Given the description of an element on the screen output the (x, y) to click on. 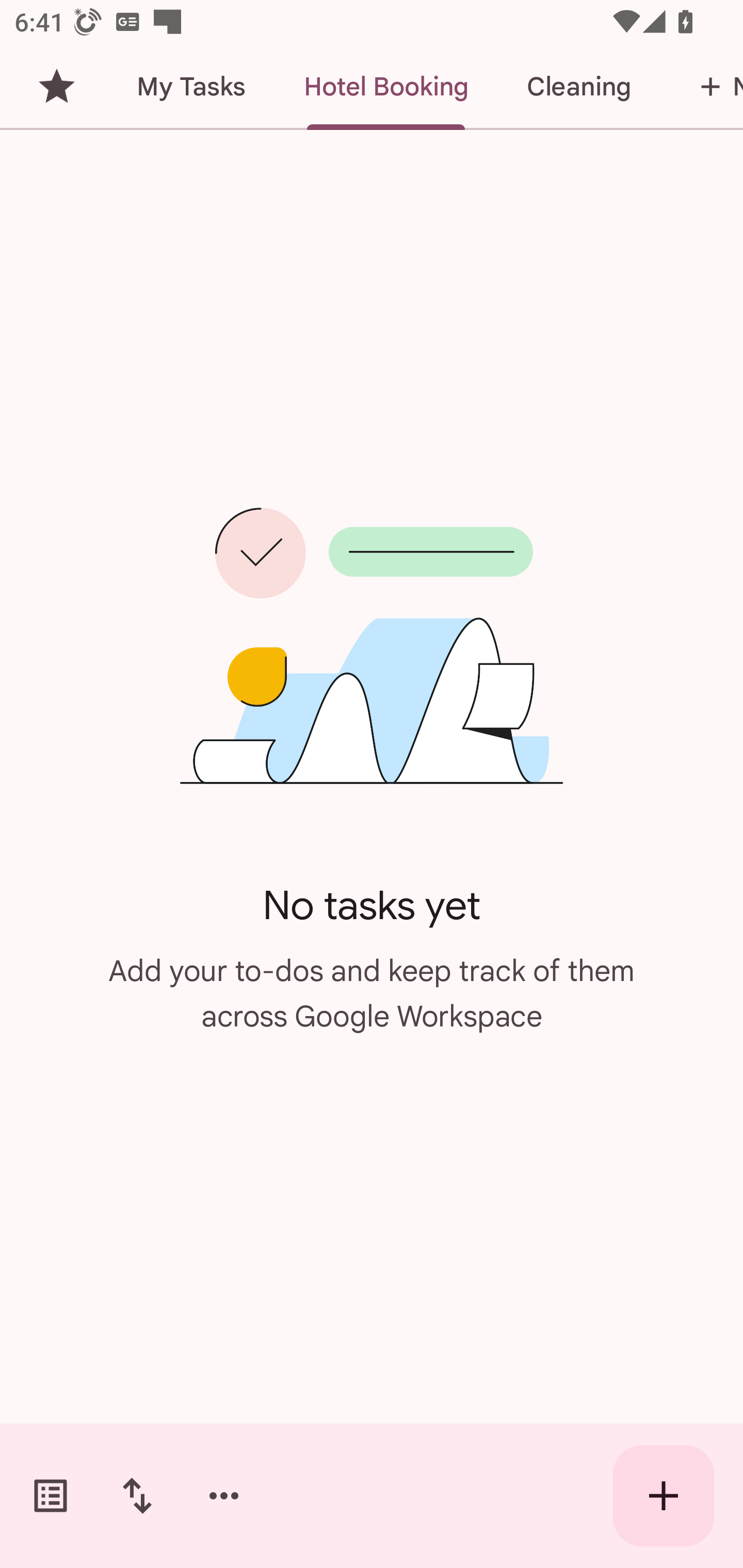
Starred (55, 86)
My Tasks (190, 86)
Cleaning (578, 86)
Switch task lists (50, 1495)
Create new task (663, 1495)
Change sort order (136, 1495)
More options (223, 1495)
